Given the description of an element on the screen output the (x, y) to click on. 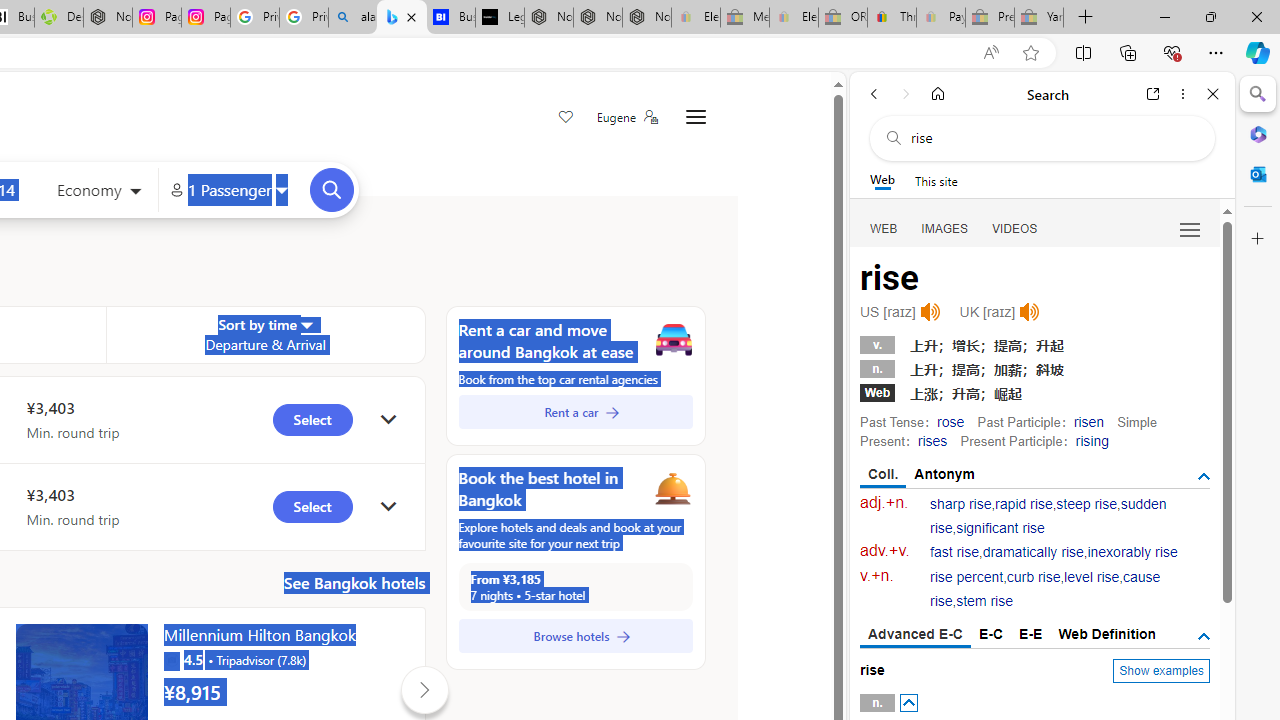
This site scope (936, 180)
Click to listen (1029, 312)
Search Filter, IMAGES (944, 228)
IMAGES (944, 228)
Advanced E-C (915, 635)
AutomationID: posbtn_0 (908, 703)
Save (565, 118)
steep rise (1086, 503)
